Given the description of an element on the screen output the (x, y) to click on. 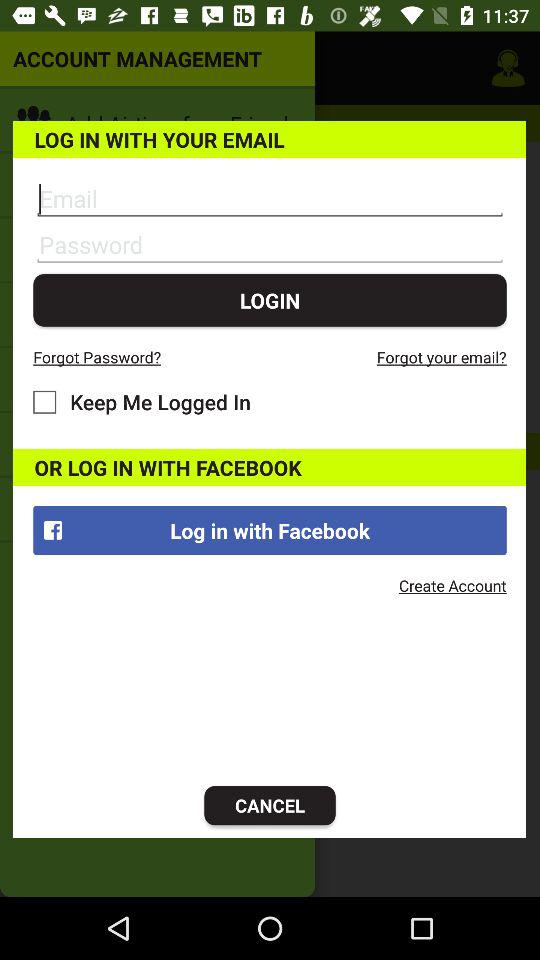
turn on icon at the bottom (269, 805)
